Given the description of an element on the screen output the (x, y) to click on. 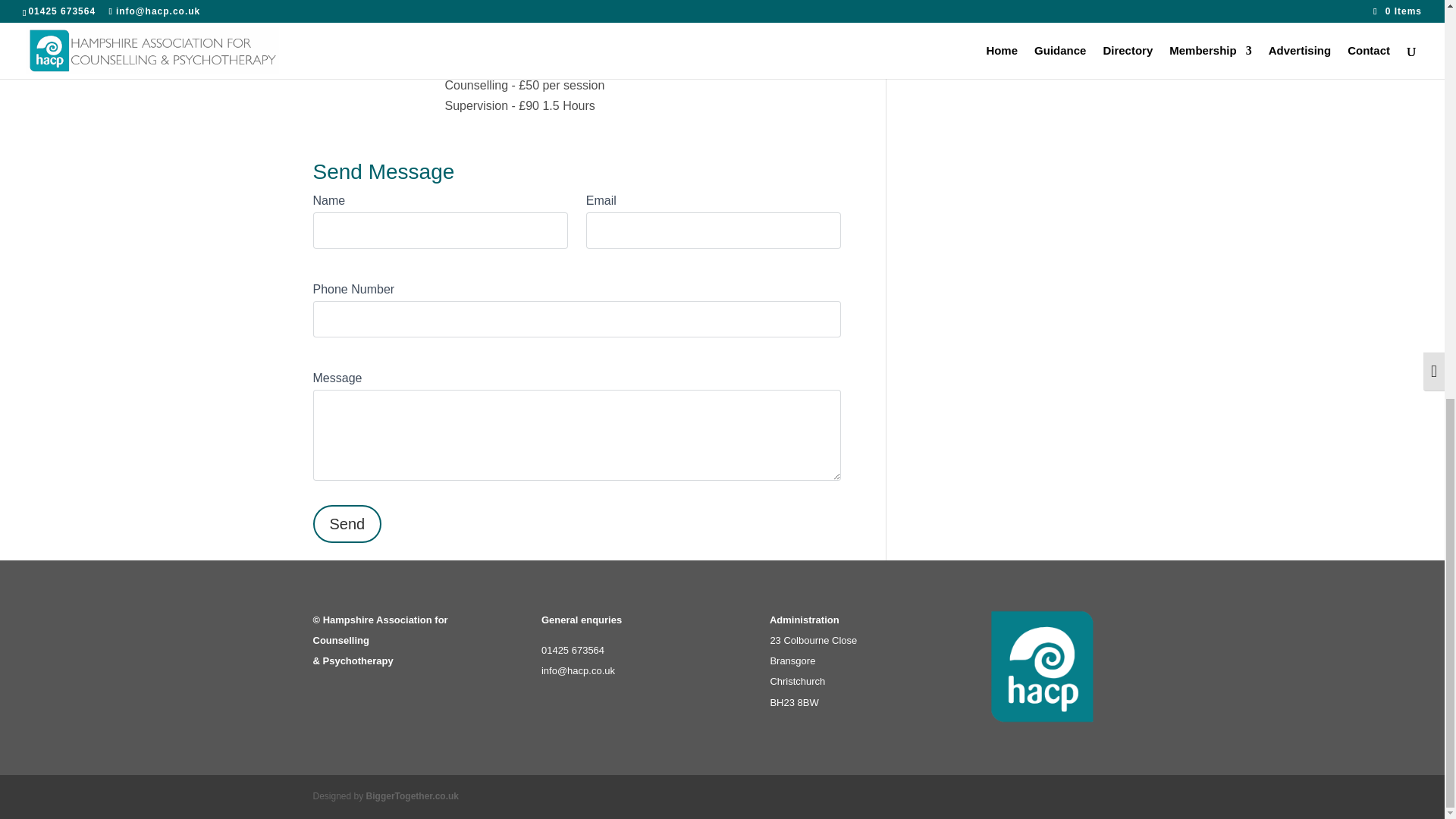
Send (347, 523)
Send (347, 523)
BiggerTogether.co.uk (412, 796)
